Given the description of an element on the screen output the (x, y) to click on. 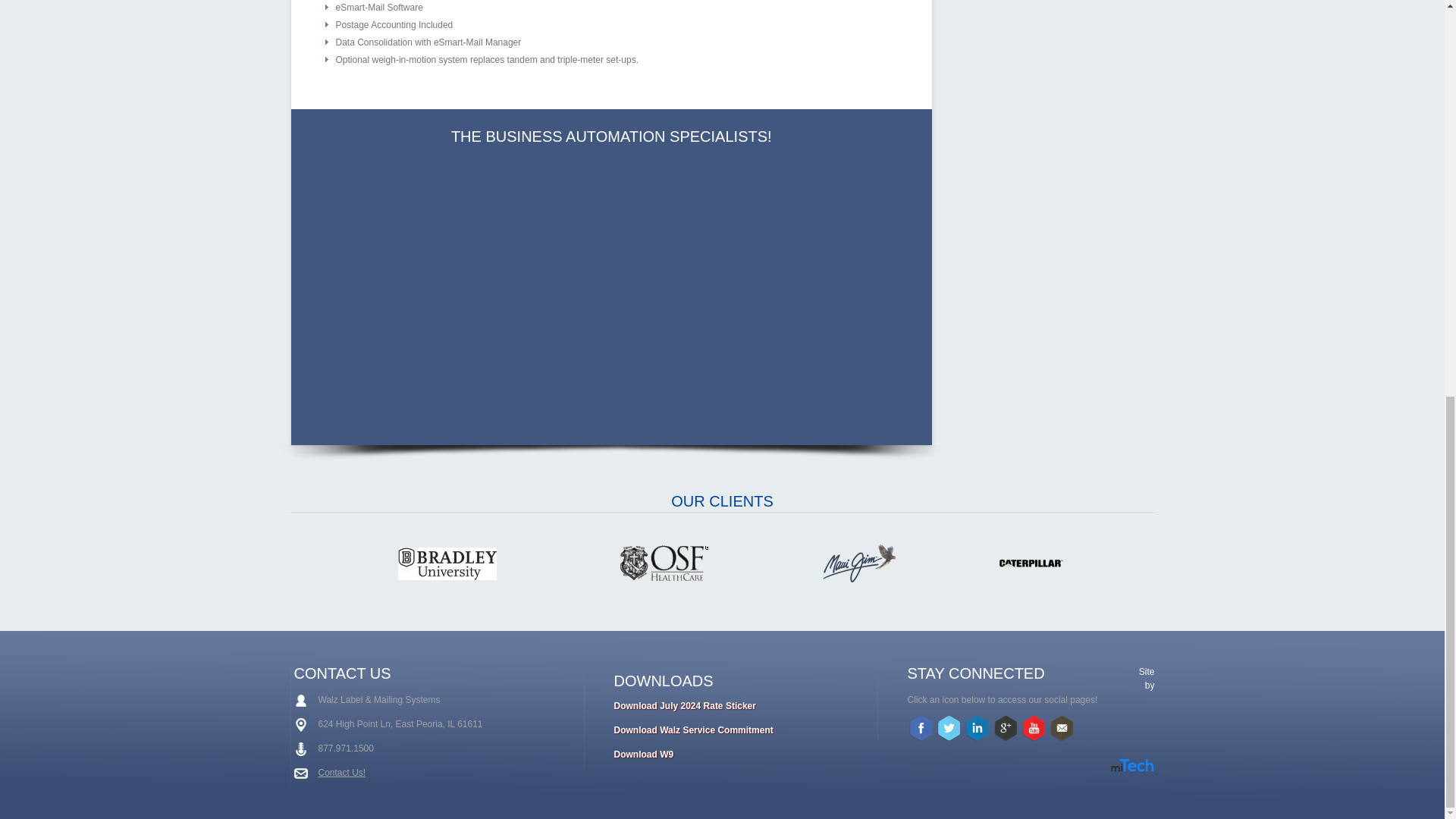
YouTube video player (610, 289)
